Given the description of an element on the screen output the (x, y) to click on. 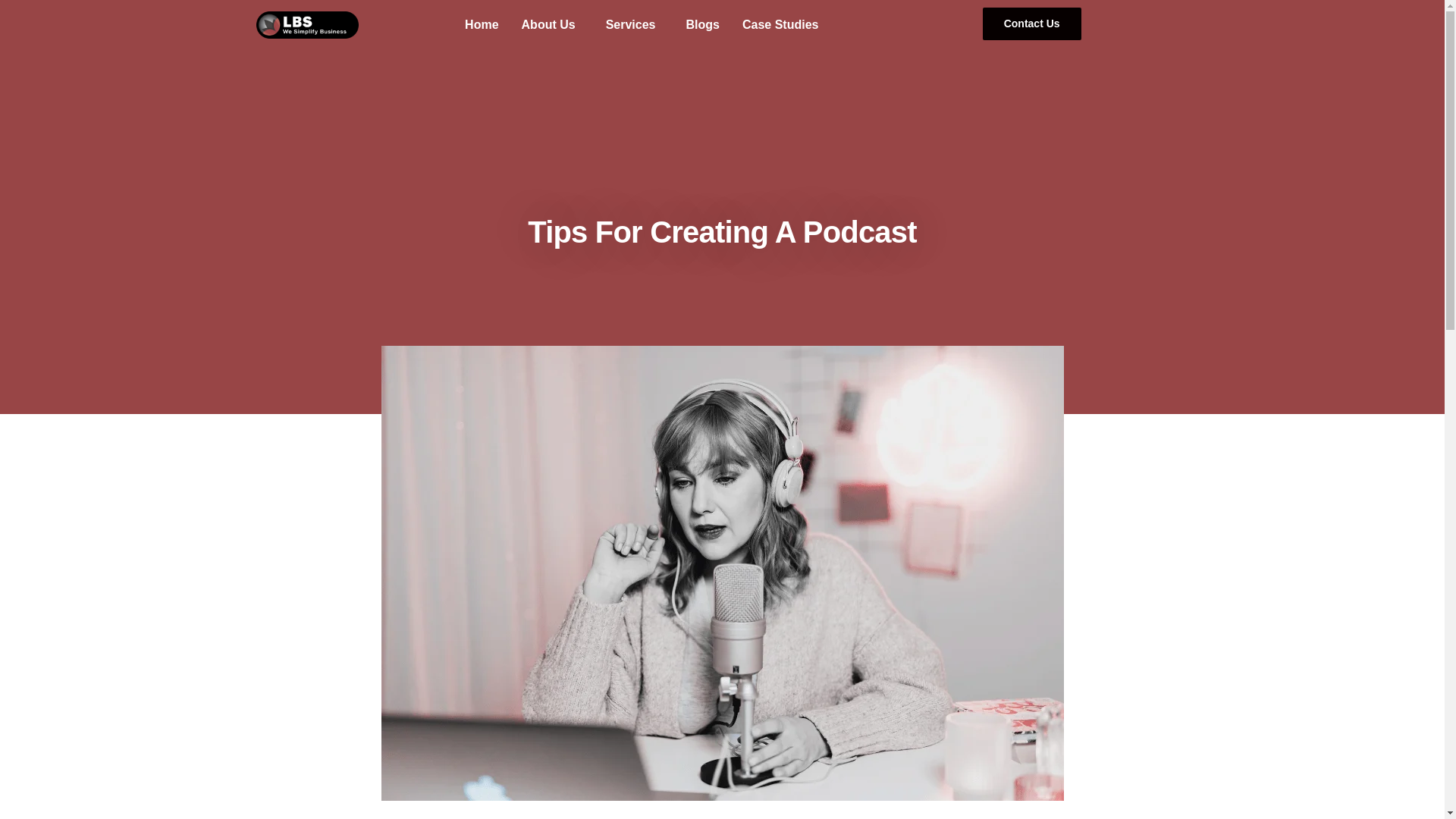
Services (634, 24)
Case Studies (779, 24)
Home (480, 24)
Blogs (702, 24)
Contact Us (1031, 23)
About Us (552, 24)
